Given the description of an element on the screen output the (x, y) to click on. 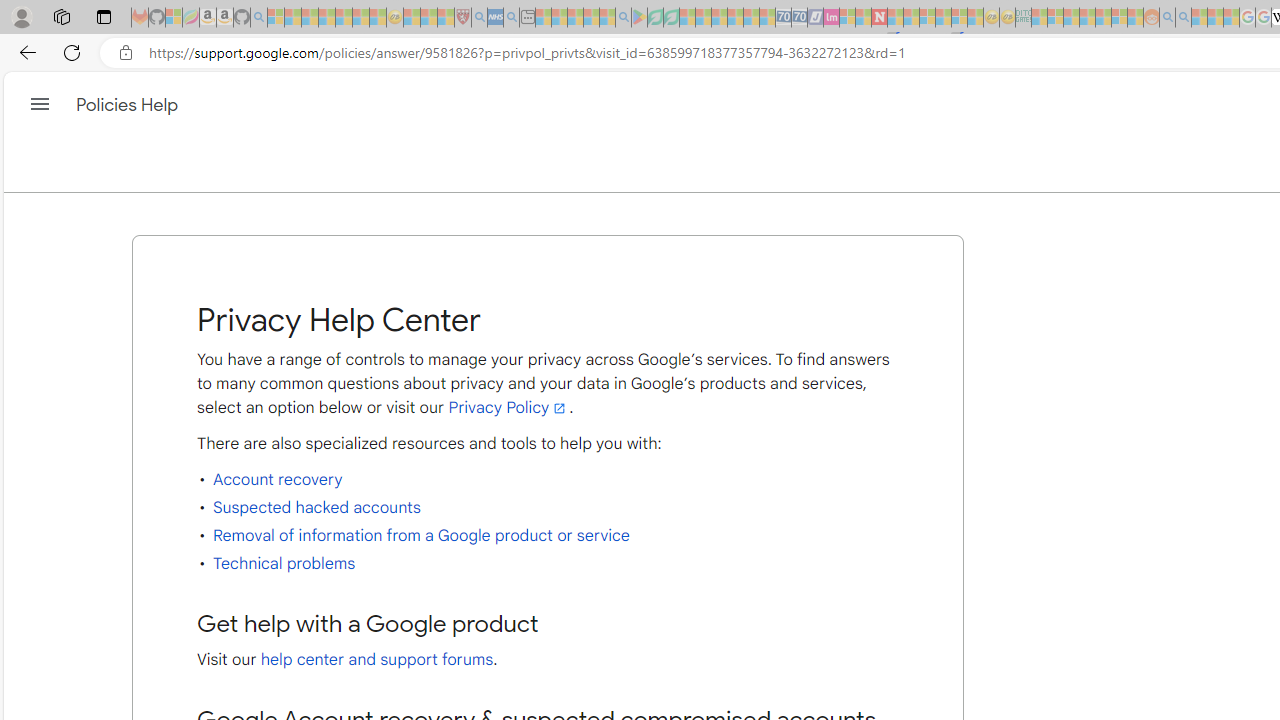
Privacy Policy (508, 408)
